Given the description of an element on the screen output the (x, y) to click on. 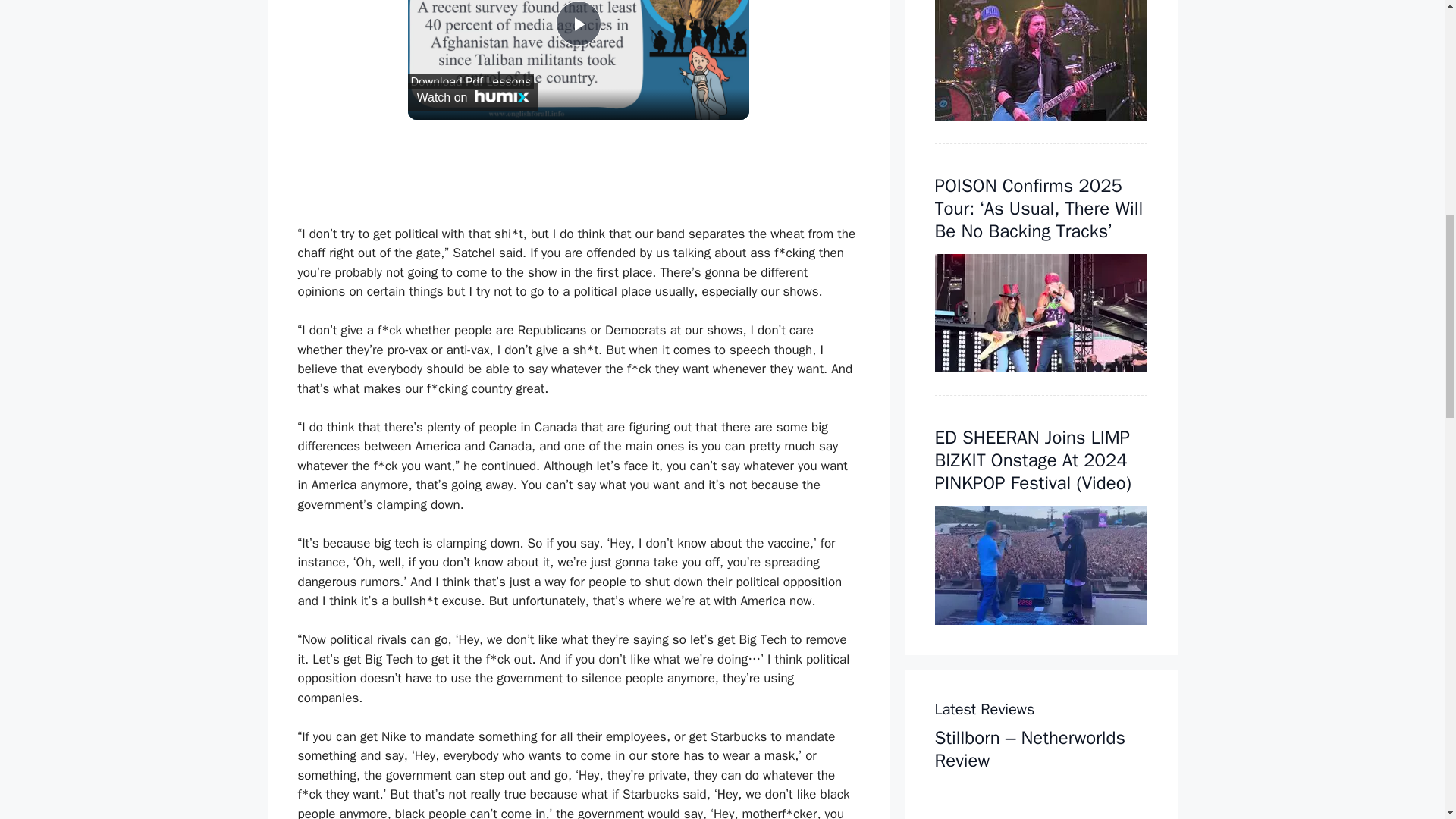
Watch on (472, 96)
Play Video (576, 22)
Download Pdf Lessons (470, 81)
Play Video (576, 22)
